Given the description of an element on the screen output the (x, y) to click on. 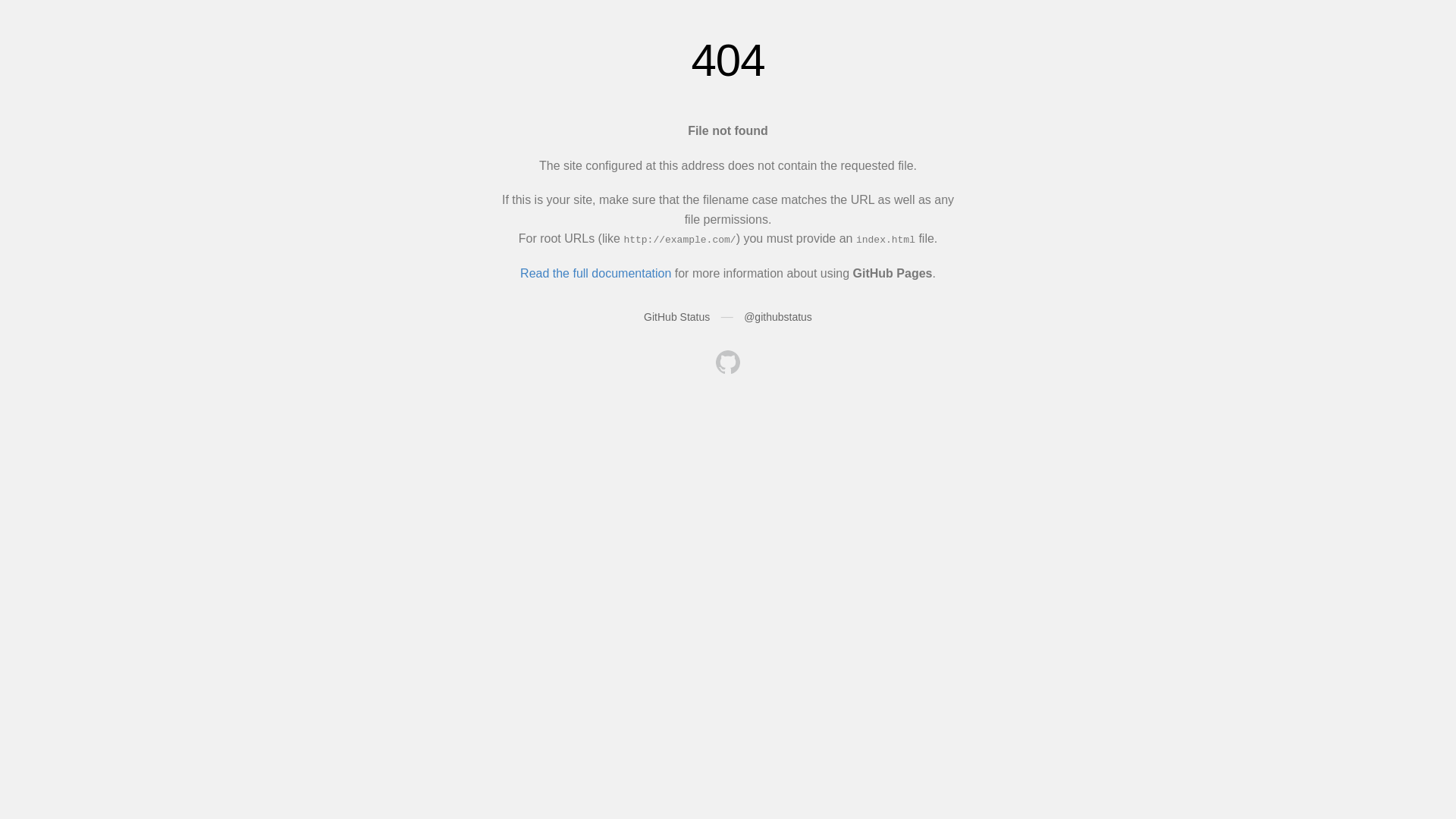
@githubstatus Element type: text (777, 316)
Read the full documentation Element type: text (595, 272)
GitHub Status Element type: text (676, 316)
